Given the description of an element on the screen output the (x, y) to click on. 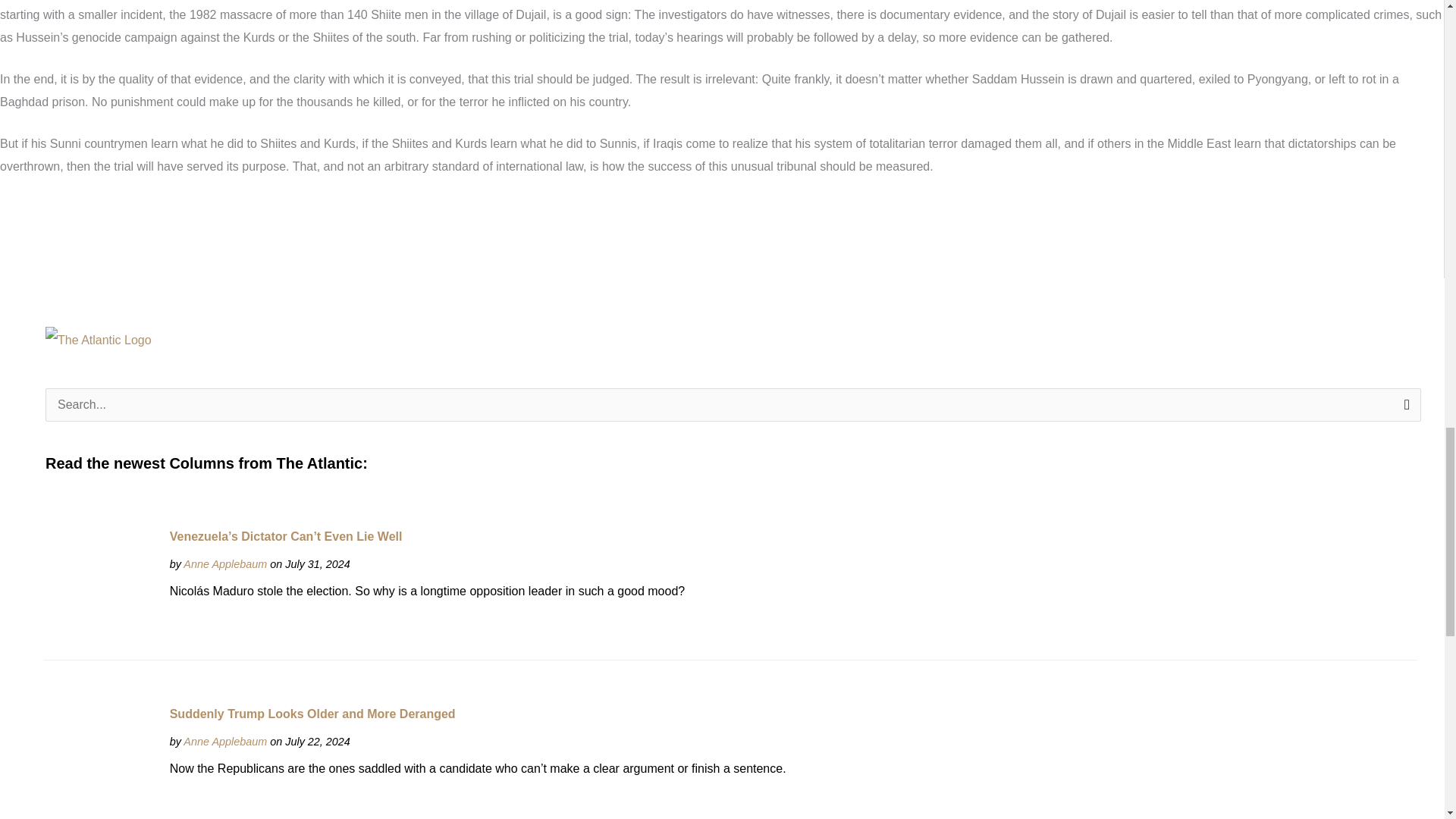
www.theatlantic.com (224, 563)
www.theatlantic.com (224, 741)
Suddenly Trump Looks Older and More Deranged (100, 761)
